Given the description of an element on the screen output the (x, y) to click on. 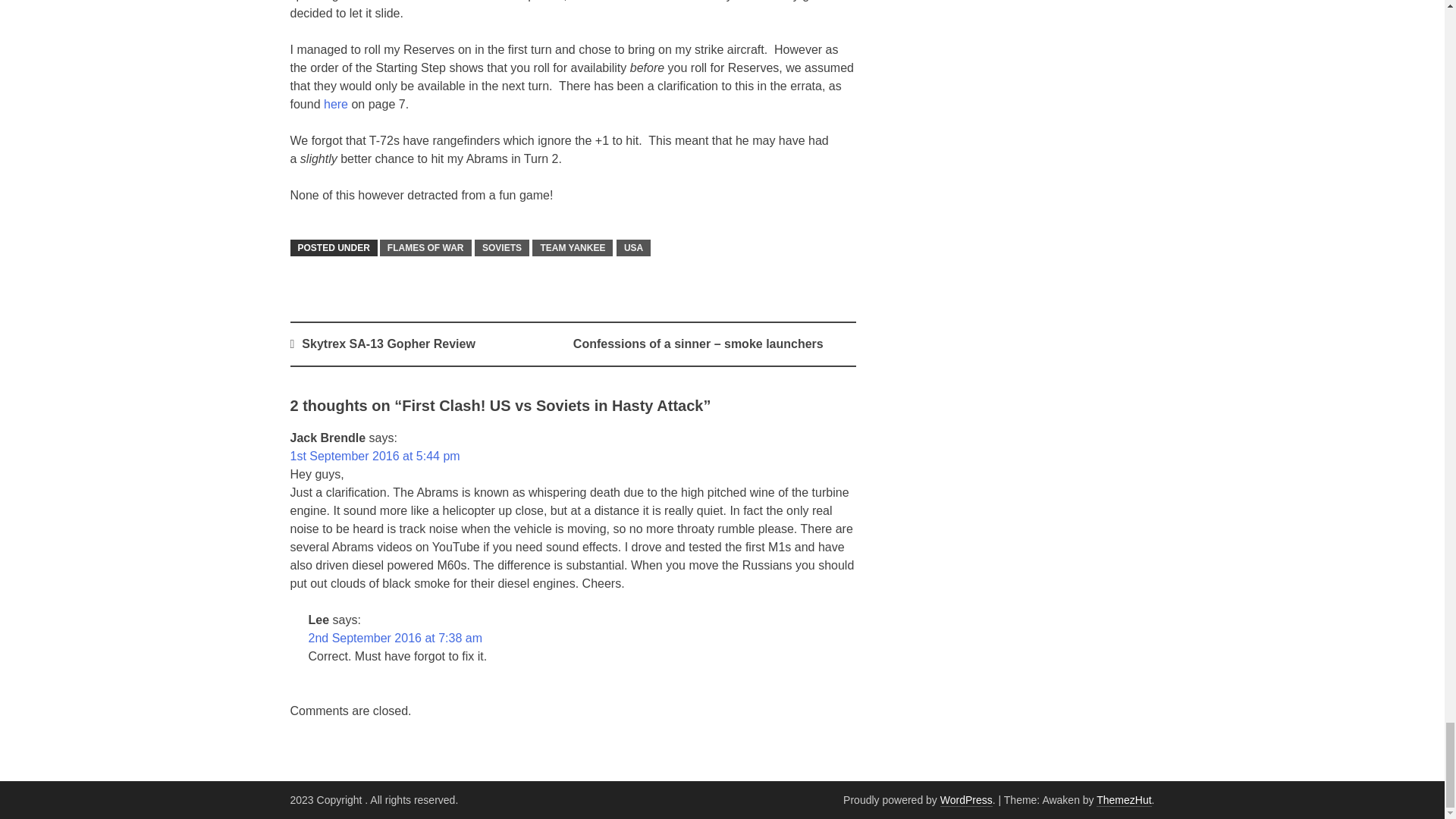
Skytrex SA-13 Gopher Review (388, 343)
FLAMES OF WAR (425, 247)
WordPress (966, 799)
here (335, 103)
TEAM YANKEE (572, 247)
SOVIETS (501, 247)
2nd September 2016 at 7:38 am (394, 637)
USA (632, 247)
1st September 2016 at 5:44 pm (374, 455)
